Given the description of an element on the screen output the (x, y) to click on. 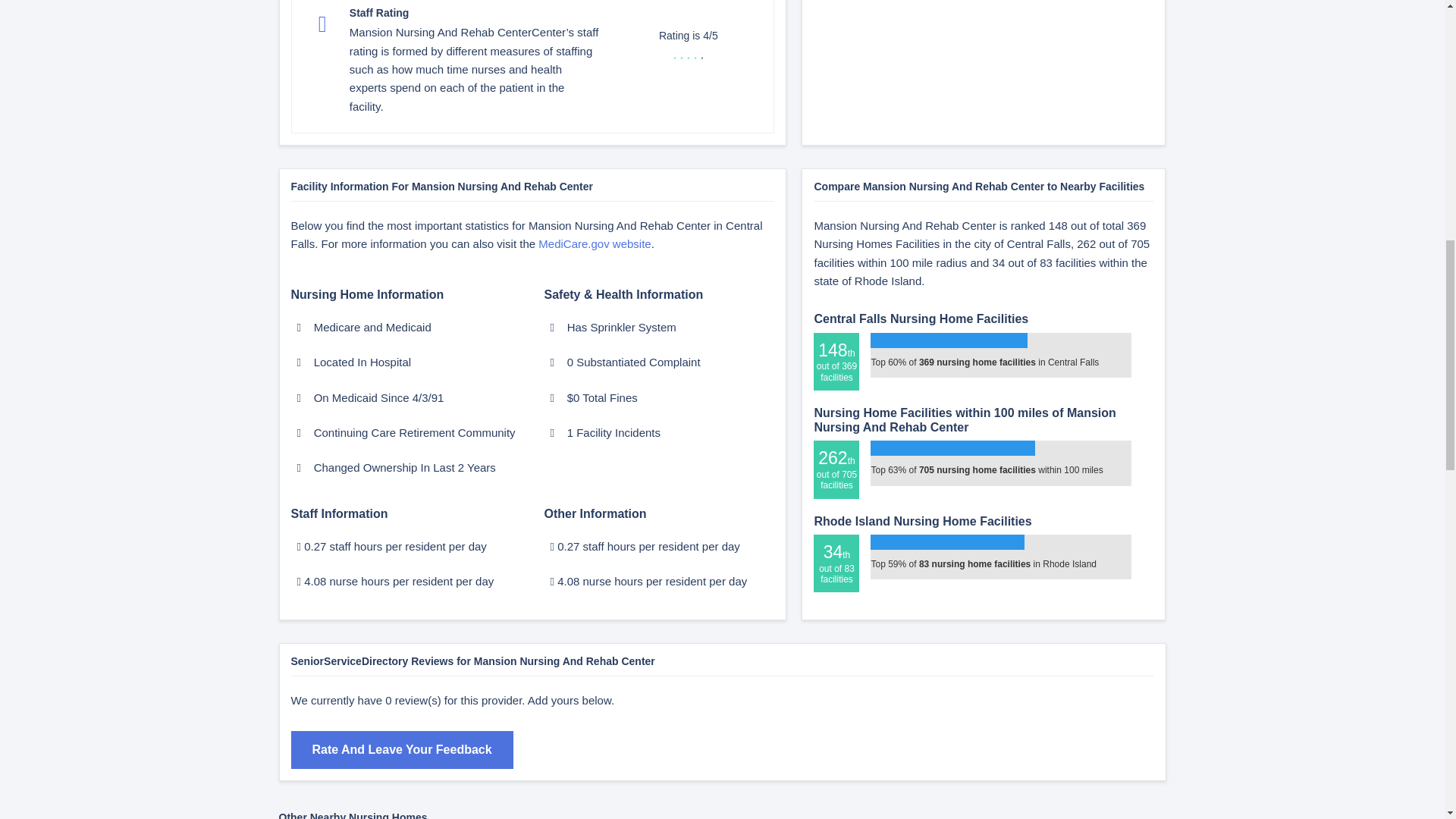
MediCare.gov website (594, 243)
Rate And Leave Your Feedback (402, 750)
